Given the description of an element on the screen output the (x, y) to click on. 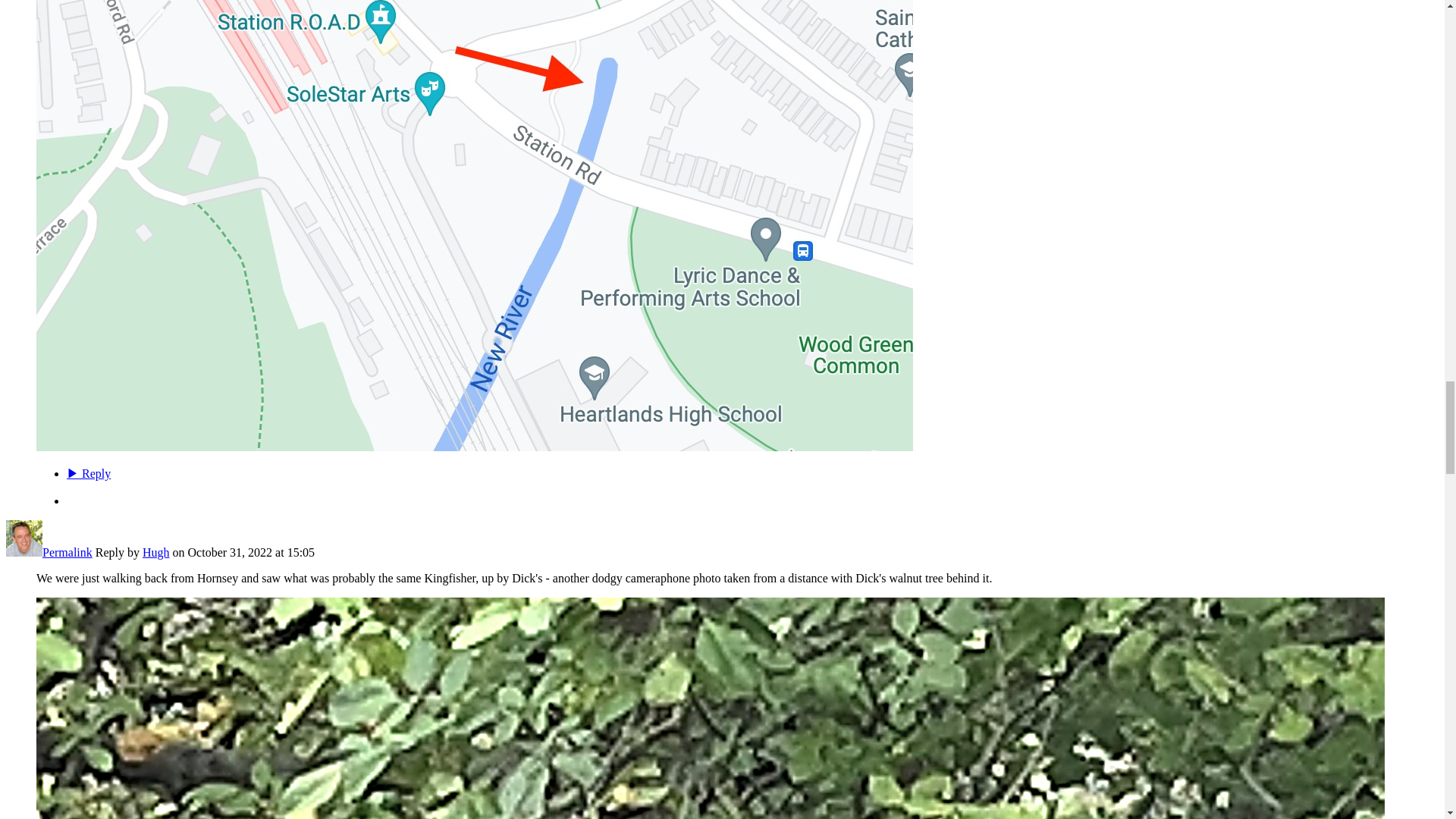
Hugh (23, 552)
Permalink to this Reply (67, 552)
